Given the description of an element on the screen output the (x, y) to click on. 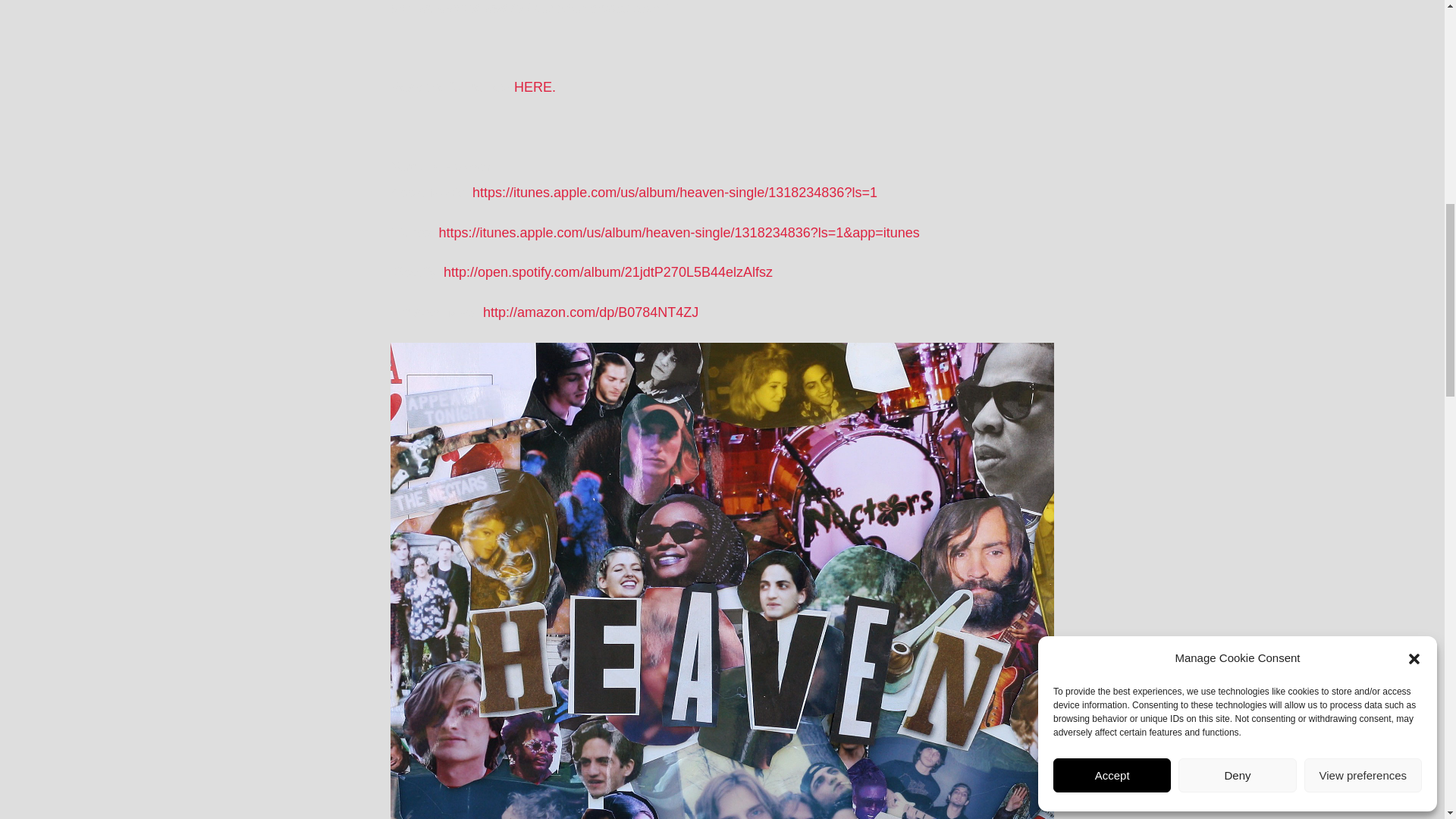
HERE. (534, 87)
